Given the description of an element on the screen output the (x, y) to click on. 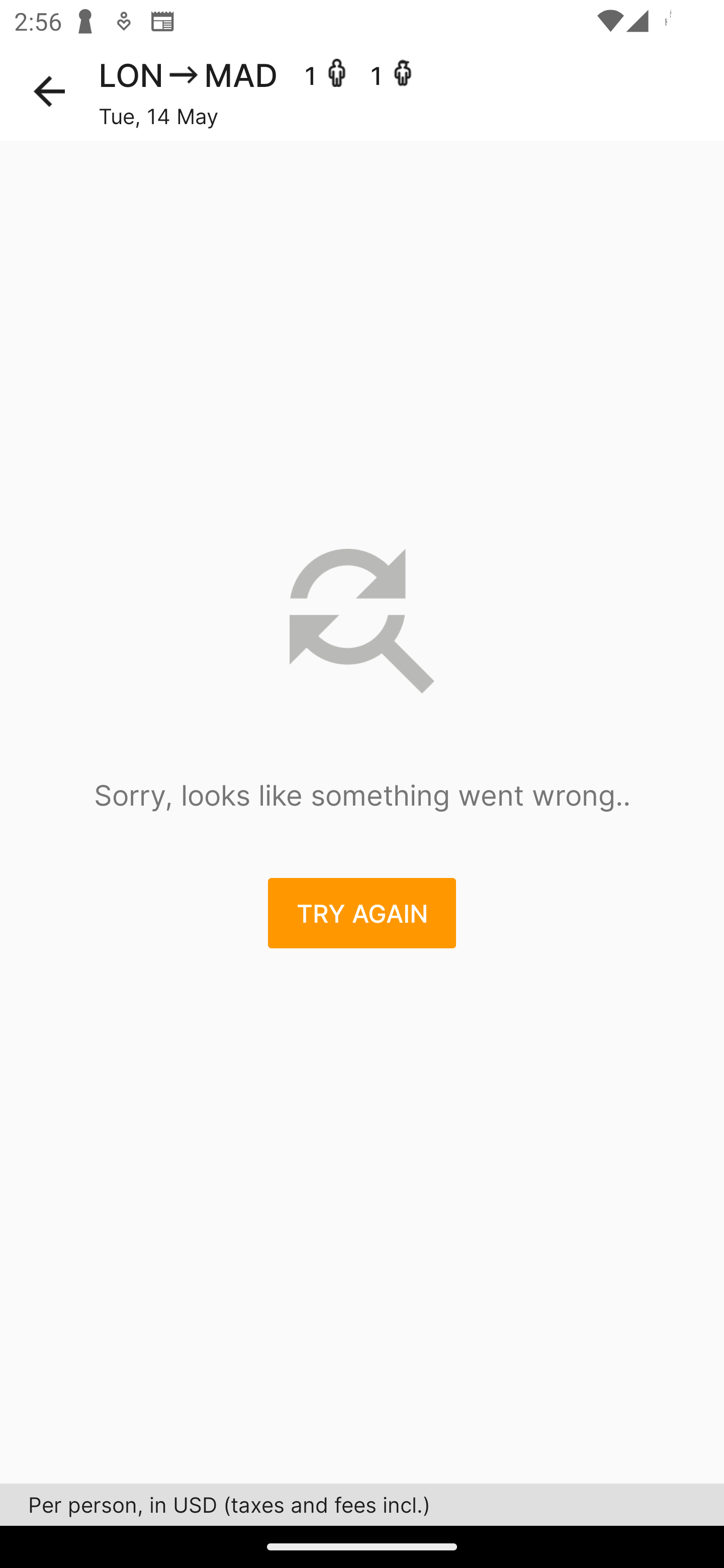
LON MAD   1 -   1 - Tue, 14 May (411, 91)
TRY AGAIN (361, 913)
